Given the description of an element on the screen output the (x, y) to click on. 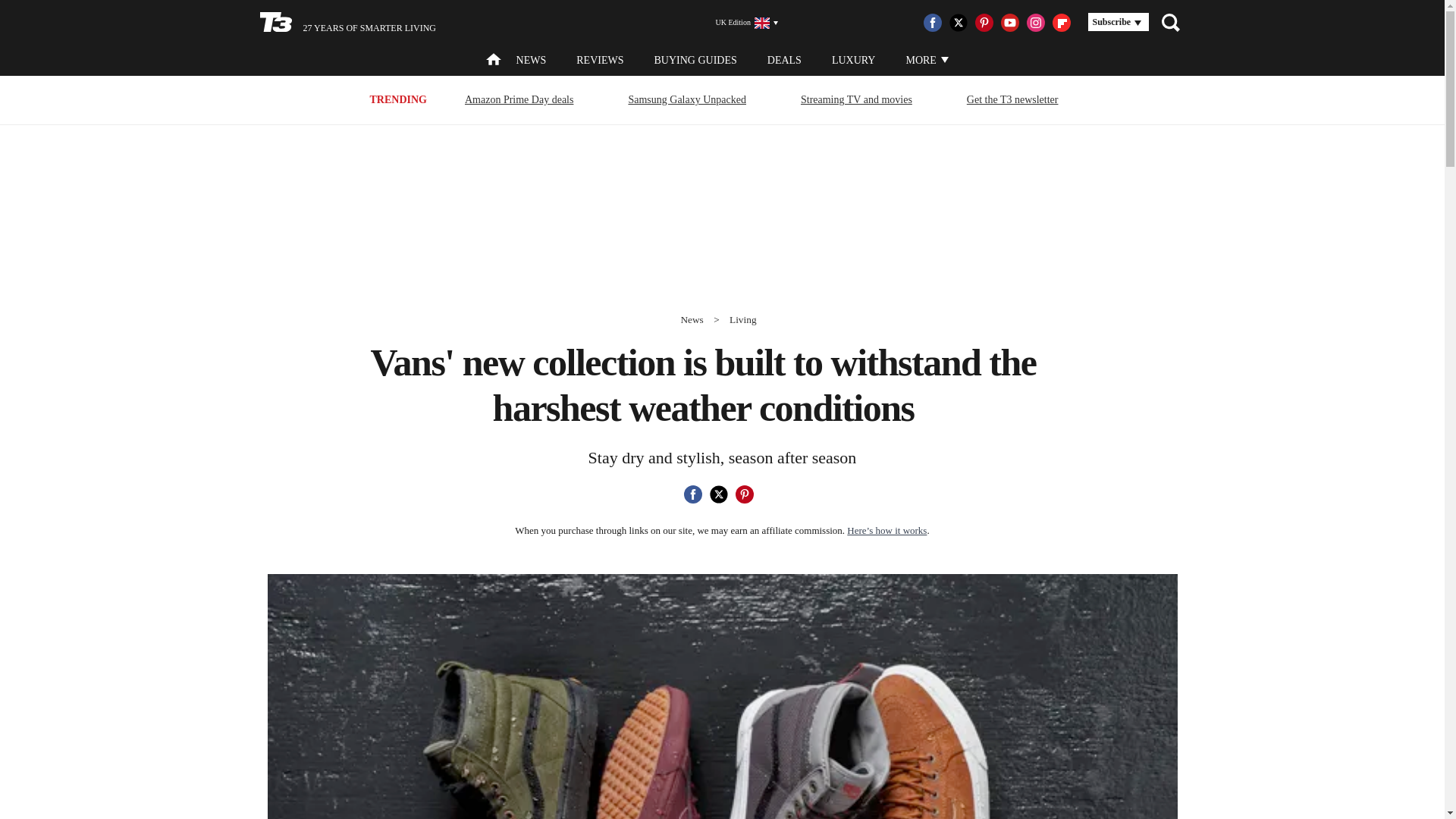
DEALS (784, 60)
REVIEWS (599, 60)
LUXURY (853, 60)
27 YEARS OF SMARTER LIVING (347, 23)
Samsung Galaxy Unpacked (687, 99)
NEWS (531, 60)
UK Edition (740, 22)
Amazon Prime Day deals (519, 99)
BUYING GUIDES (694, 60)
